Given the description of an element on the screen output the (x, y) to click on. 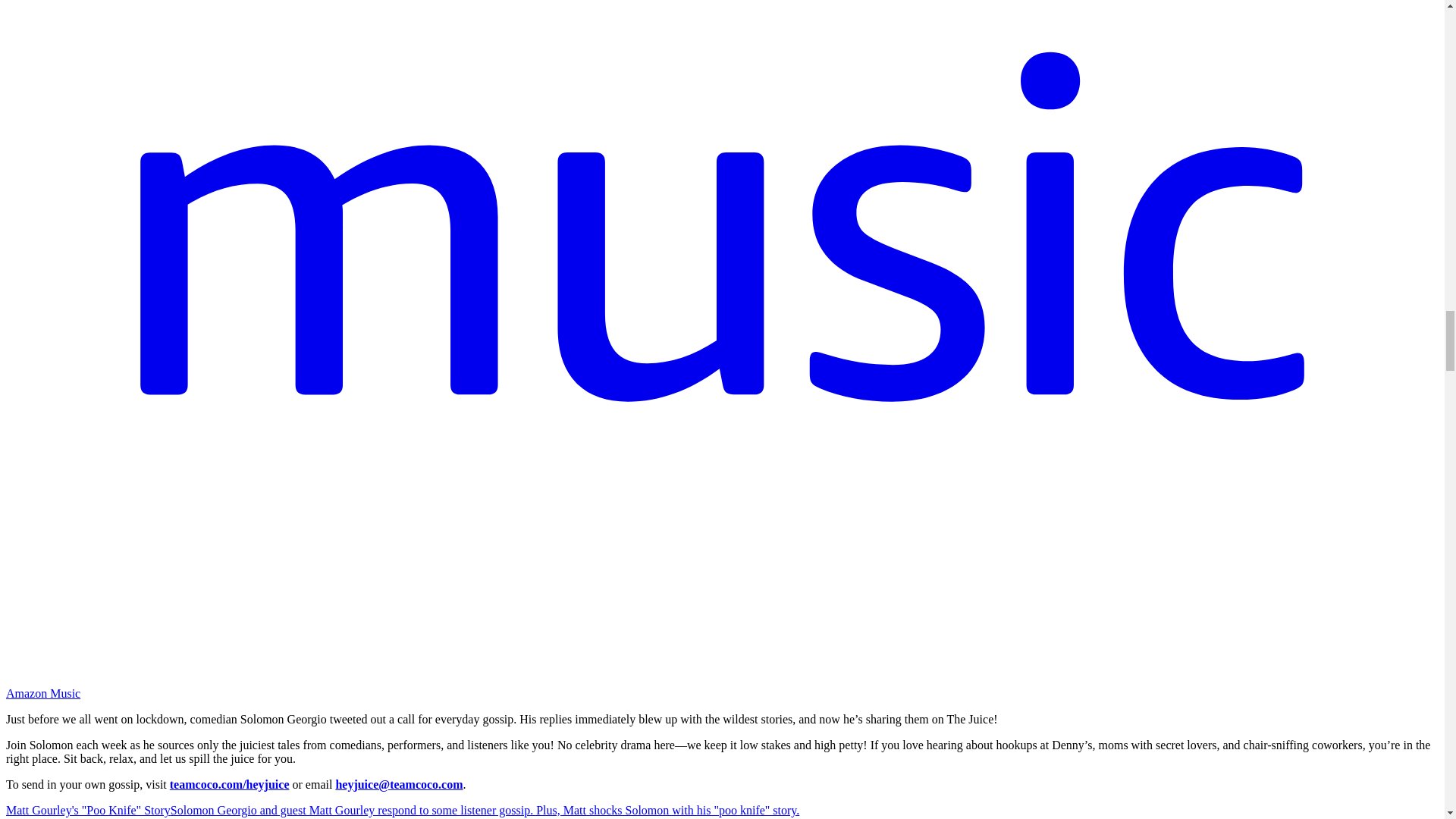
Matt Gourley's "Poo Knife" Story (87, 809)
